Given the description of an element on the screen output the (x, y) to click on. 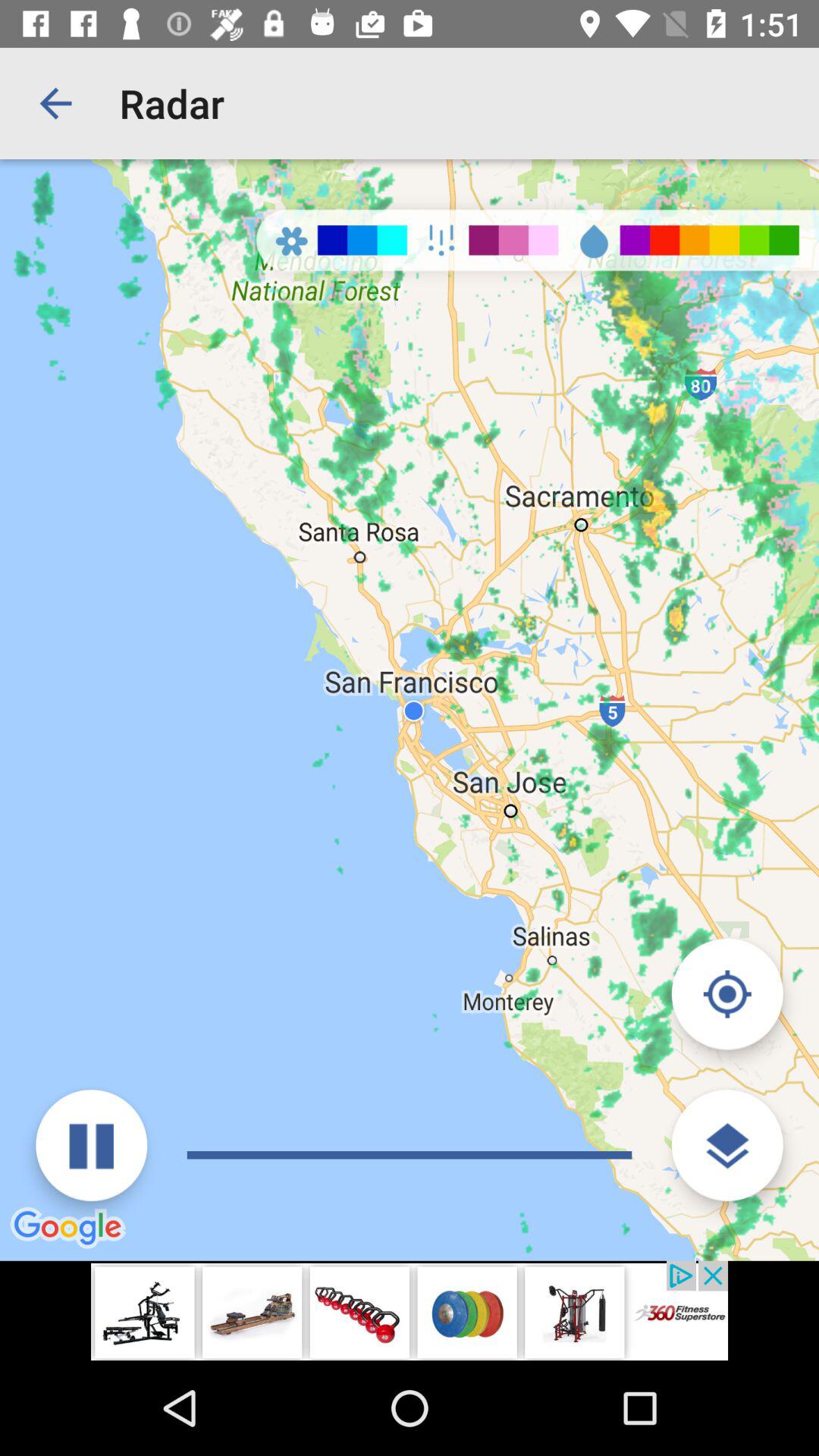
toggle location option (727, 993)
